Given the description of an element on the screen output the (x, y) to click on. 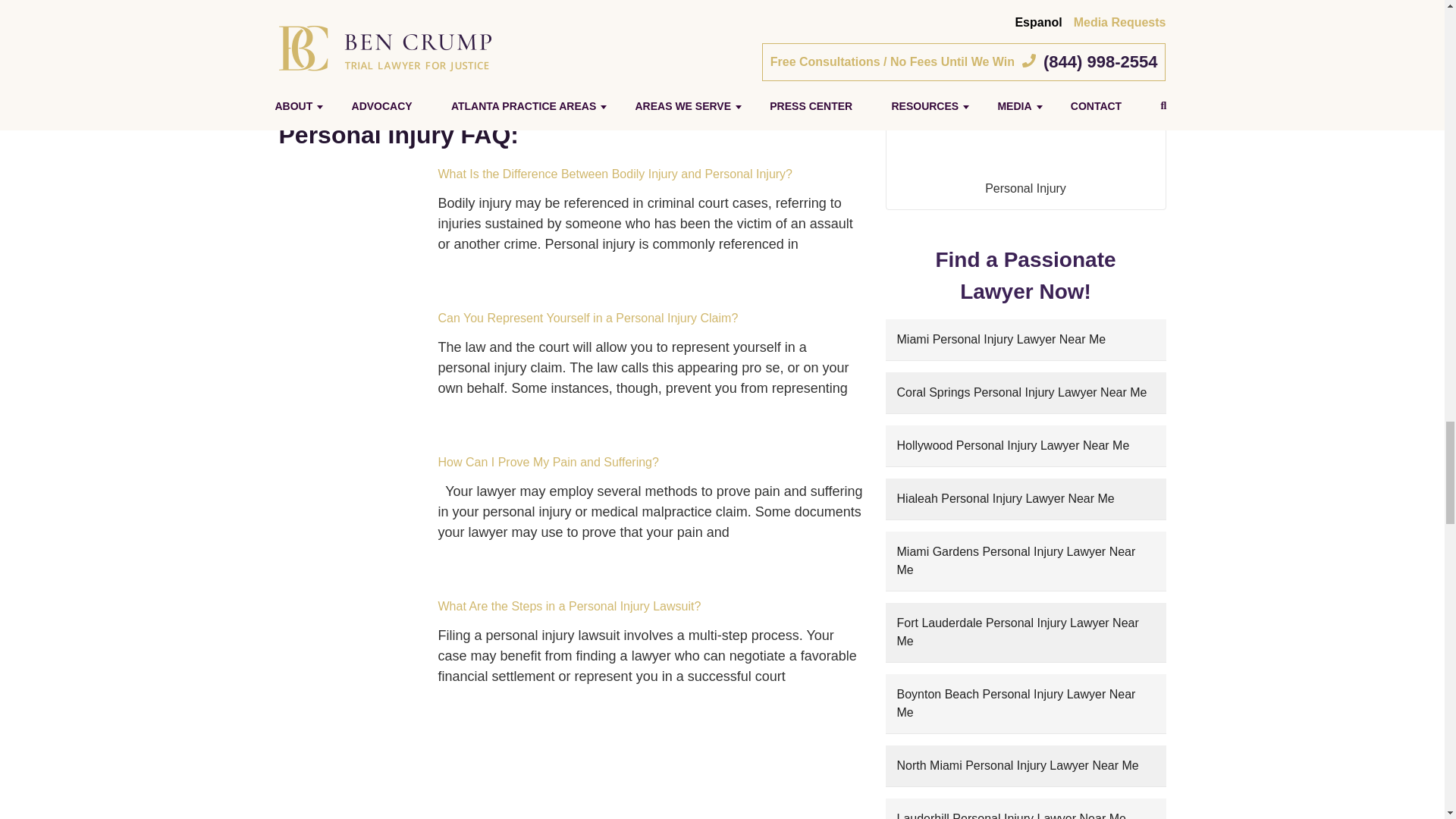
What Are the Steps in a Personal Injury Lawsuit? (351, 655)
What Are the Steps in a Personal Injury Lawsuit (354, 660)
Can You Represent Yourself in a Personal Injury Claim? (351, 368)
How Can I Prove My Pain and Suffering? (351, 511)
